Given the description of an element on the screen output the (x, y) to click on. 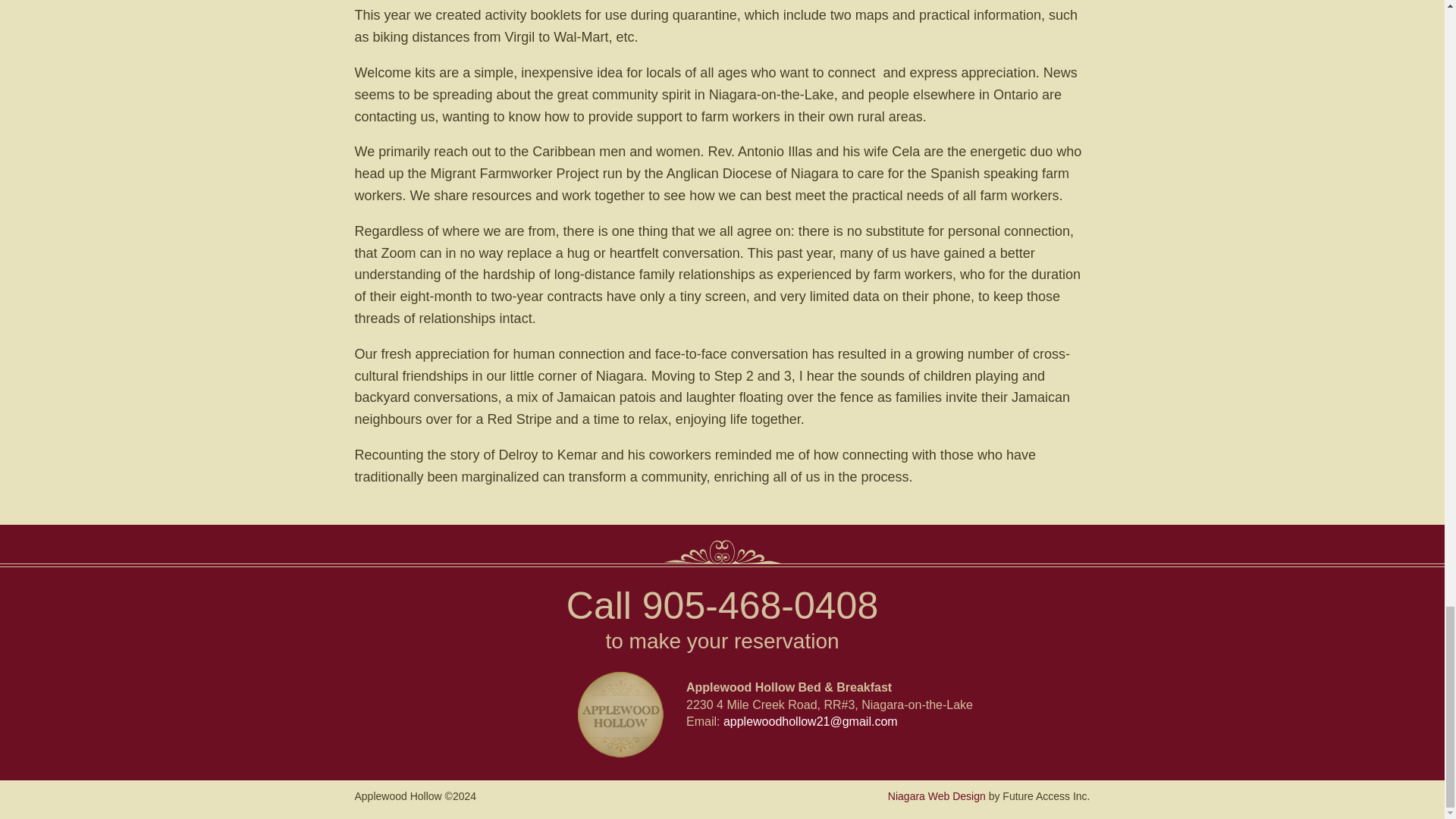
Niagara Web Design (936, 796)
Niagara Web Design by Future Access (936, 796)
